Given the description of an element on the screen output the (x, y) to click on. 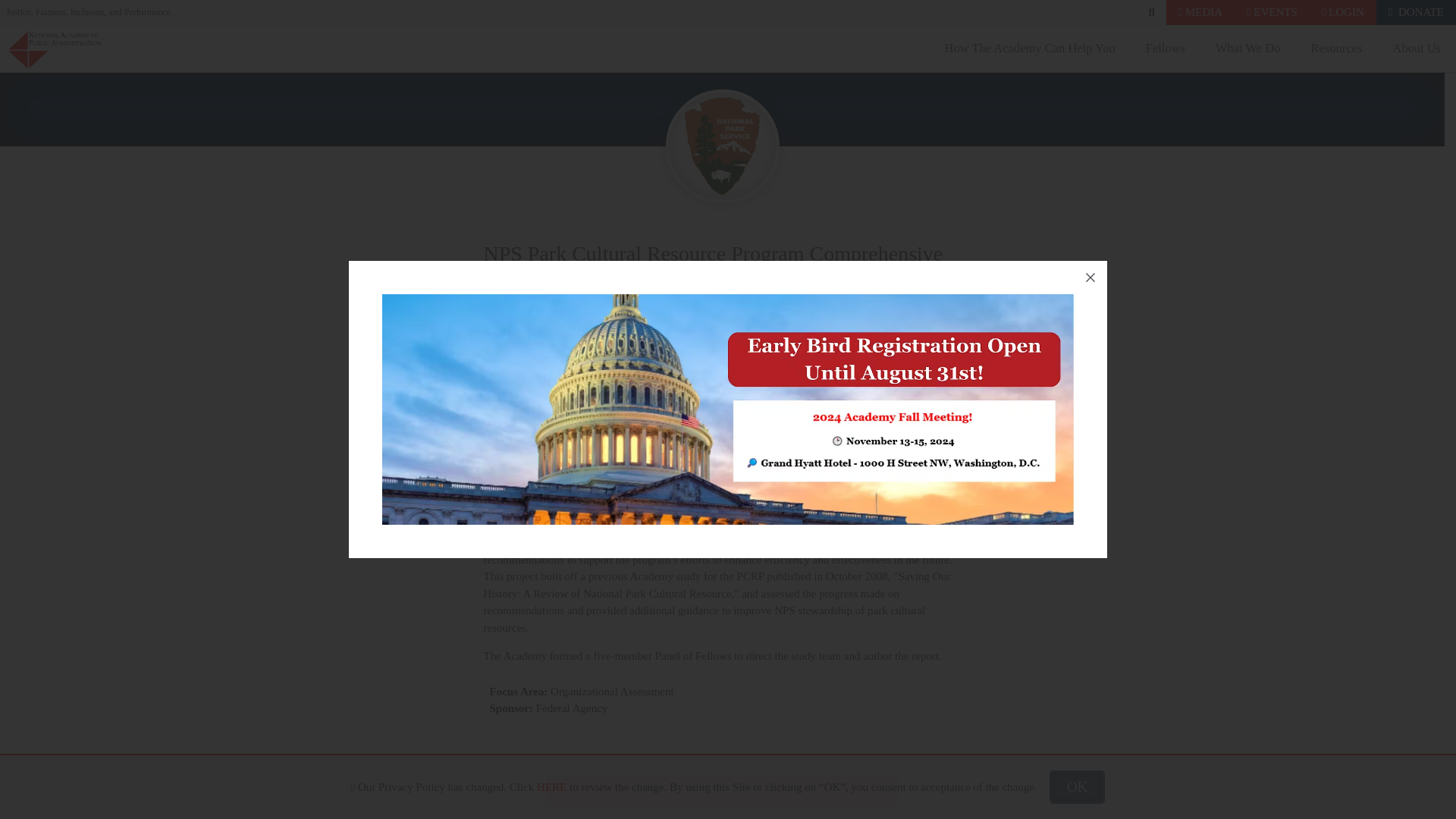
OK (1077, 787)
Resources (1336, 48)
MEDIA (1200, 12)
Fellows (1165, 48)
HERE (551, 787)
EVENTS (1271, 12)
Close (1090, 277)
Final Report (722, 790)
LOGIN (1341, 12)
How The Academy Can Help You (1030, 48)
